Given the description of an element on the screen output the (x, y) to click on. 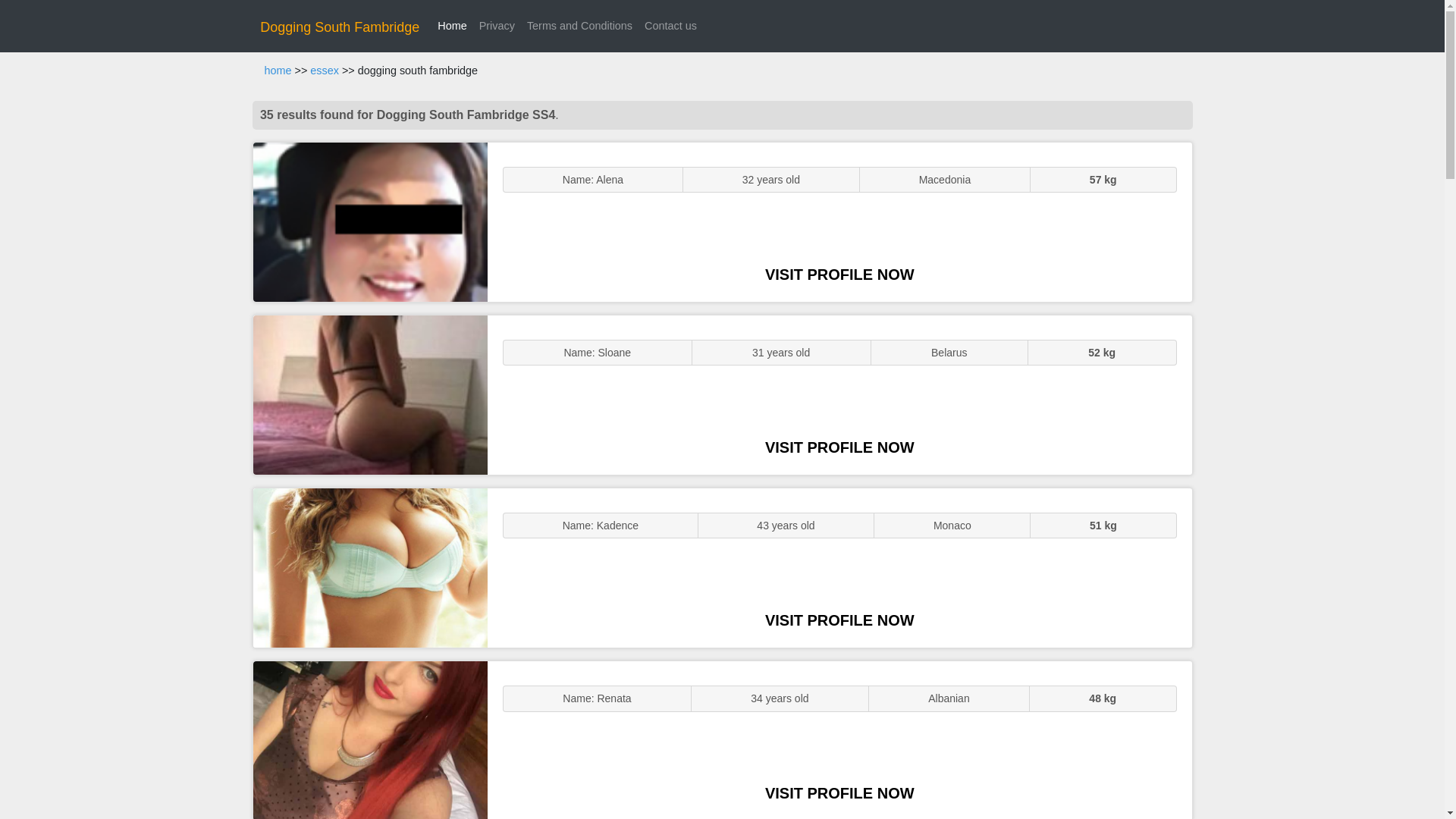
essex (324, 70)
Privacy (497, 25)
 ENGLISH STUNNER (370, 222)
Sluts (370, 739)
VISIT PROFILE NOW (839, 792)
Contact us (671, 25)
Dogging South Fambridge (339, 27)
Terms and Conditions (580, 25)
VISIT PROFILE NOW (839, 274)
home (277, 70)
Sexy (370, 567)
VISIT PROFILE NOW (839, 446)
GFE (370, 395)
VISIT PROFILE NOW (839, 619)
